Given the description of an element on the screen output the (x, y) to click on. 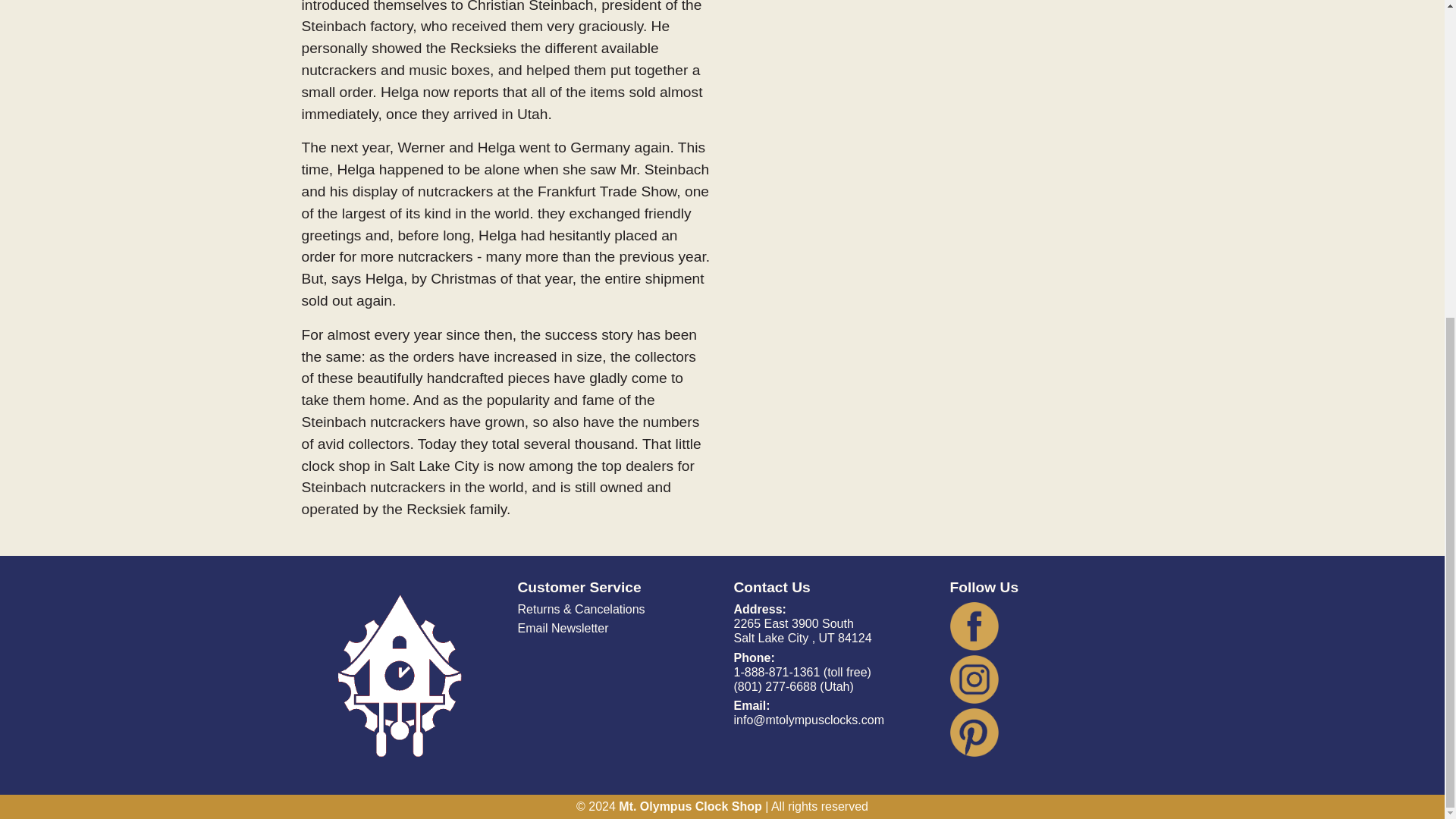
Email Newsletter (562, 627)
